Given the description of an element on the screen output the (x, y) to click on. 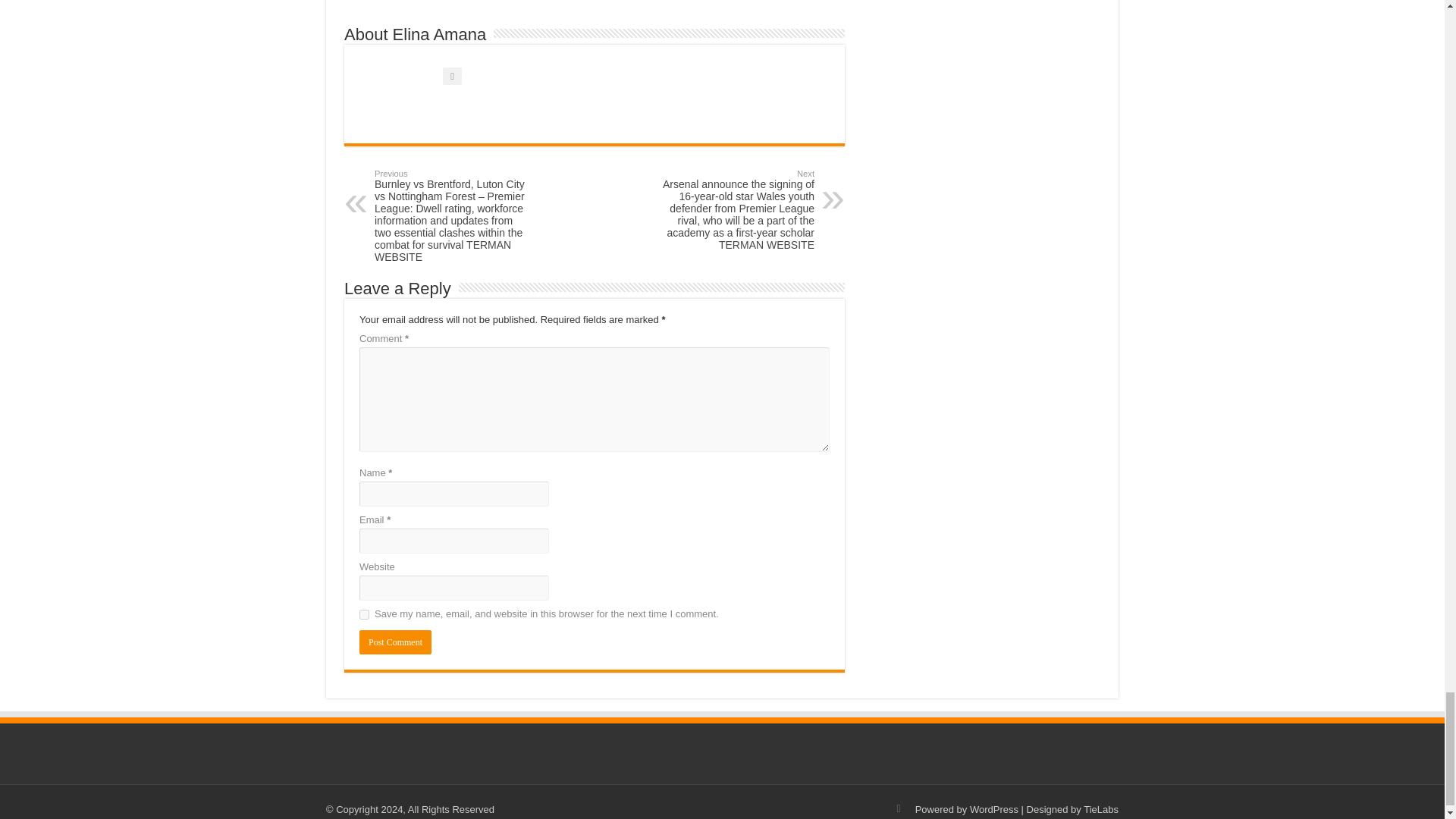
yes (364, 614)
Post Comment (394, 641)
